Given the description of an element on the screen output the (x, y) to click on. 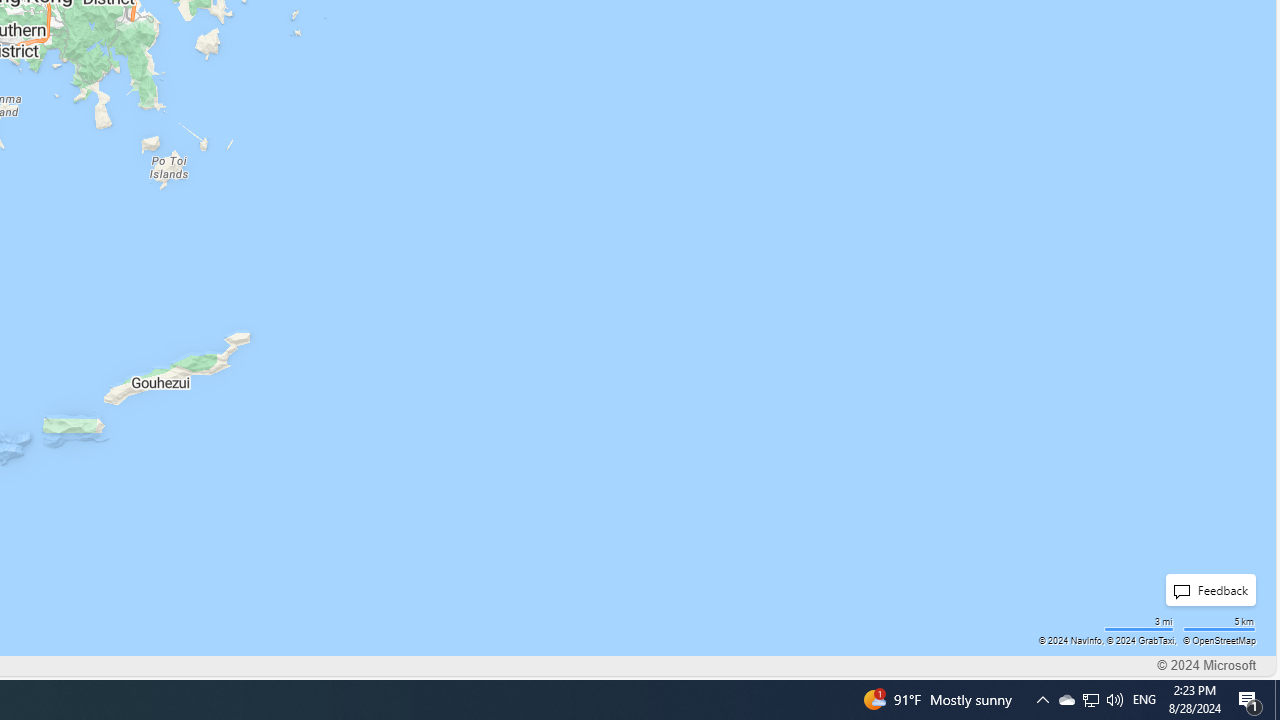
Feedback (1209, 589)
Feedback (1205, 589)
